Given the description of an element on the screen output the (x, y) to click on. 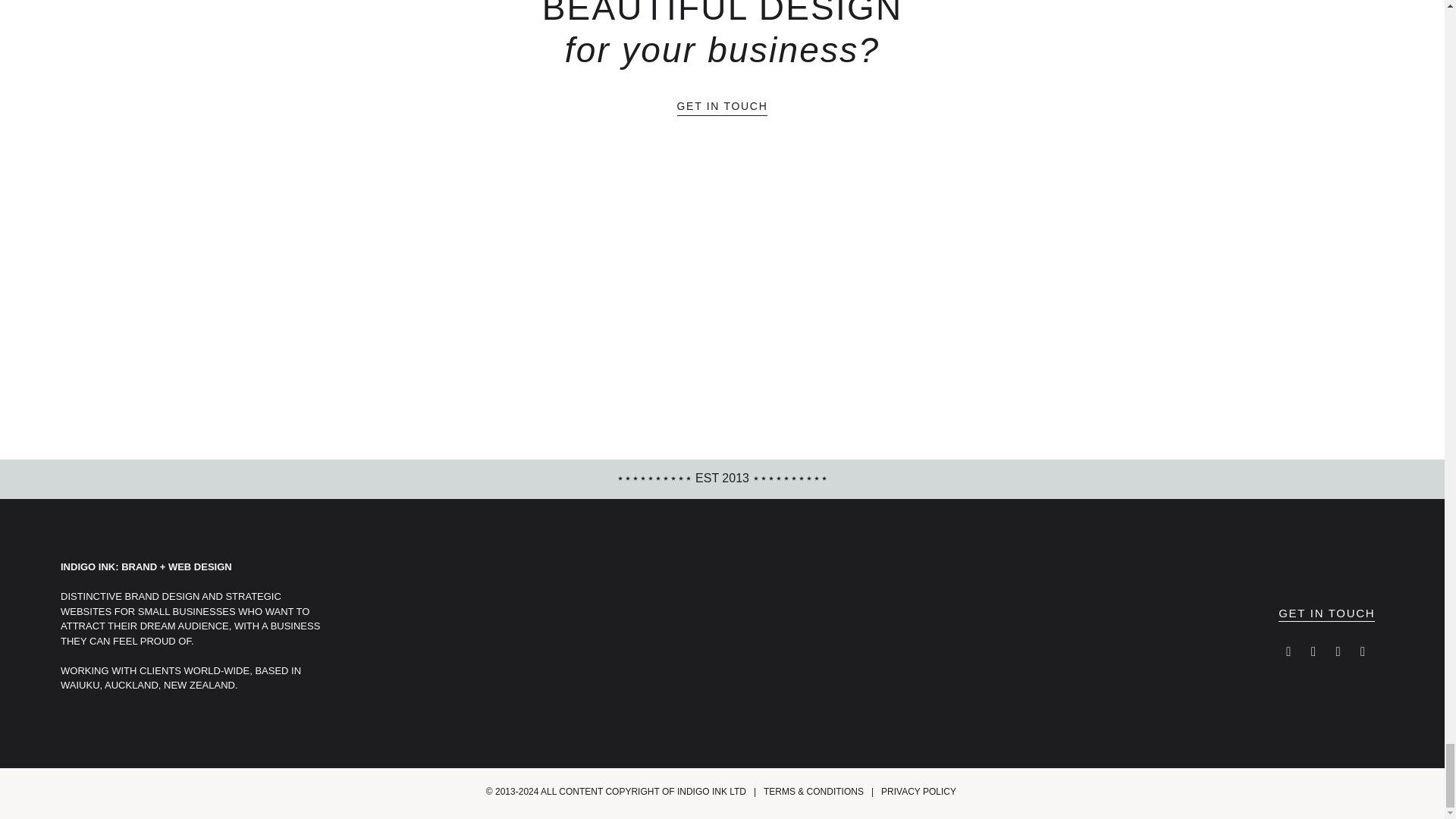
PRIVACY POLICY (918, 791)
GET IN TOUCH (722, 108)
GET IN TOUCH (1326, 614)
